Given the description of an element on the screen output the (x, y) to click on. 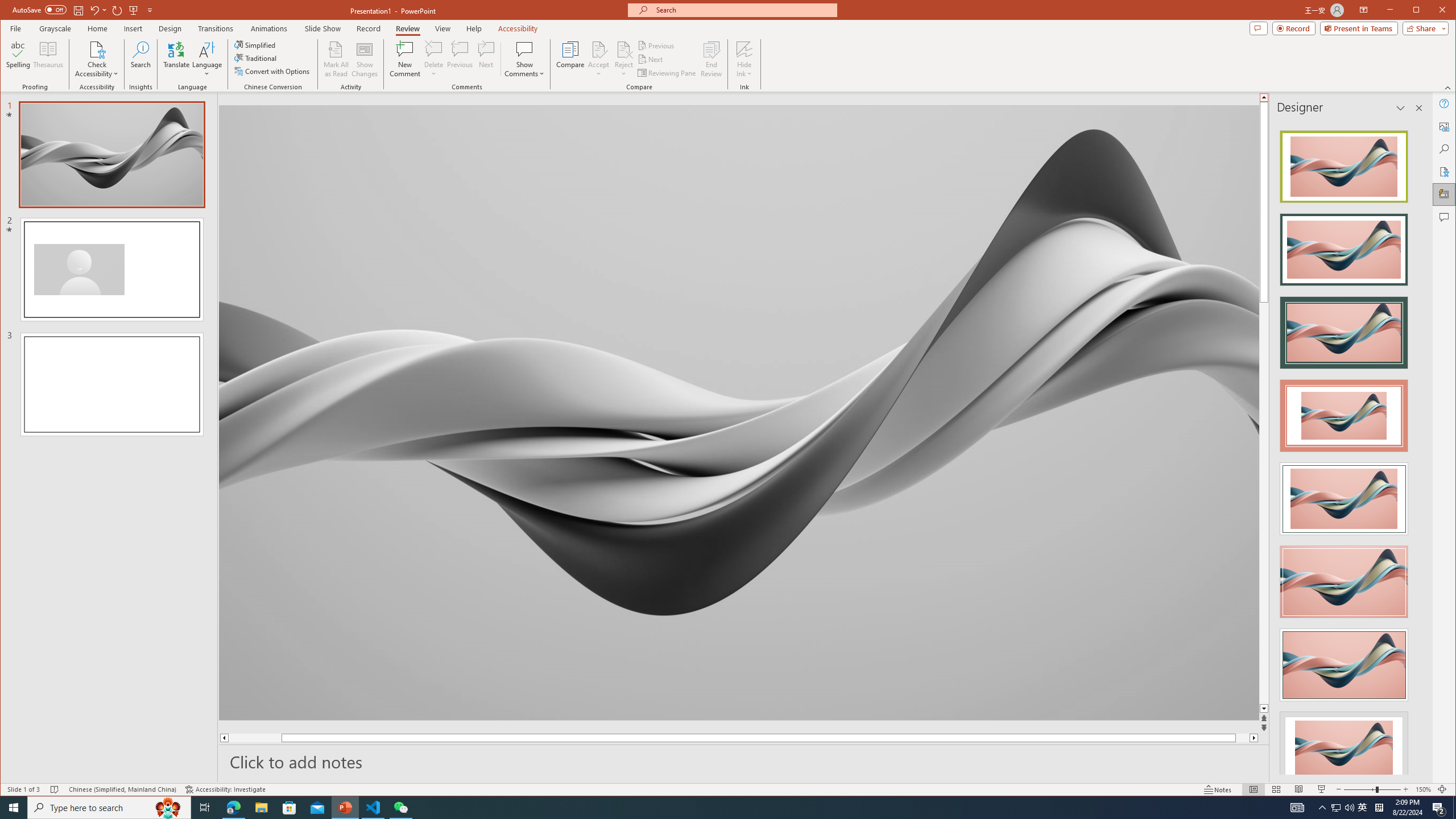
Wavy 3D art (738, 412)
